Given the description of an element on the screen output the (x, y) to click on. 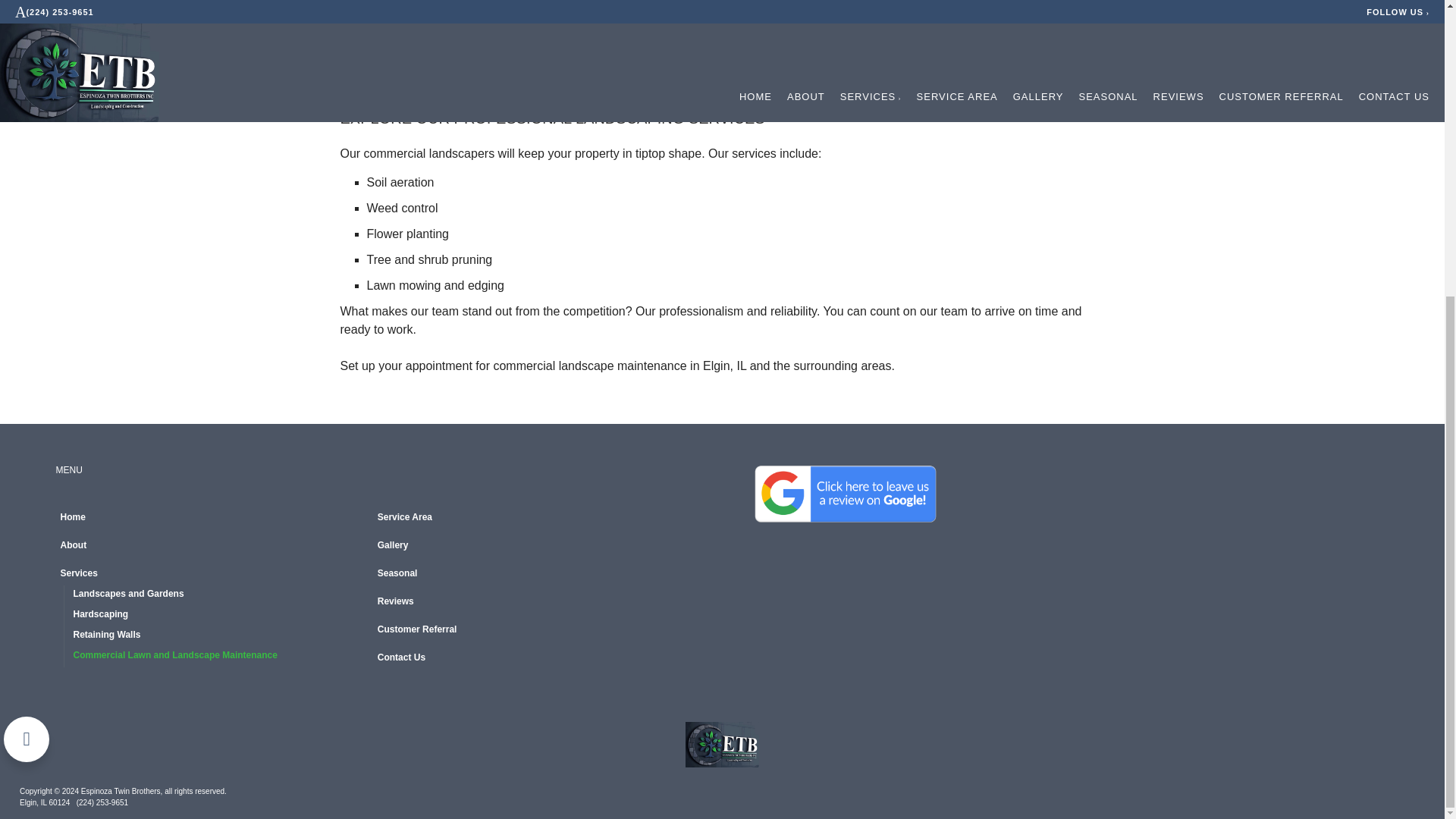
Home (212, 518)
Service Area (528, 518)
About (212, 547)
Landscapes and Gardens (218, 595)
Services (212, 575)
Retaining Walls (218, 636)
Espinoza Twin Brothers (722, 744)
Contact Us (528, 659)
Hardscaping (218, 616)
Gallery (528, 547)
Seasonal (528, 575)
Customer Referral (528, 630)
Commercial Lawn and Landscape Maintenance (218, 657)
Reviews (528, 602)
